Given the description of an element on the screen output the (x, y) to click on. 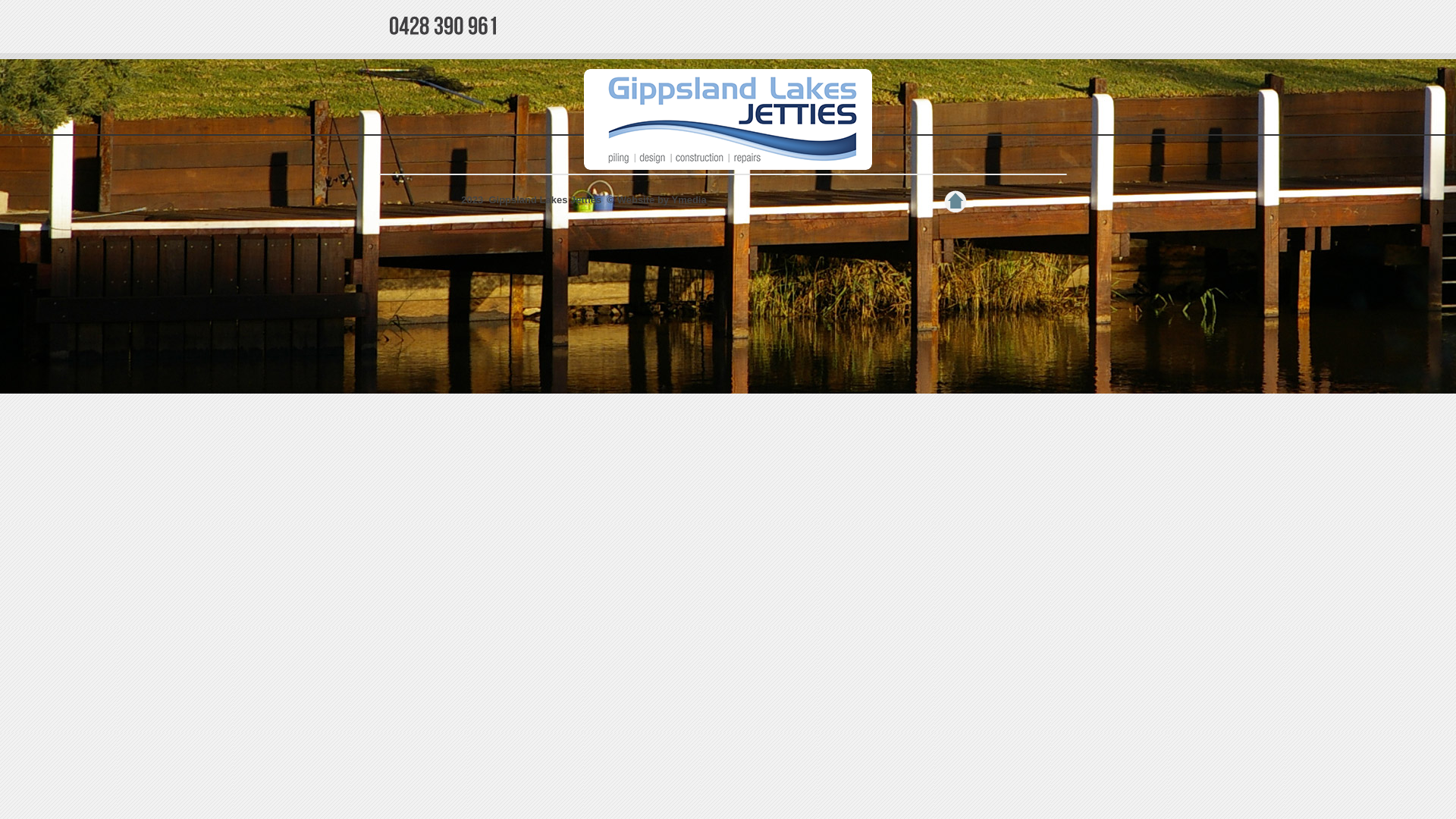
Website by Ymedia Element type: text (661, 199)
